Given the description of an element on the screen output the (x, y) to click on. 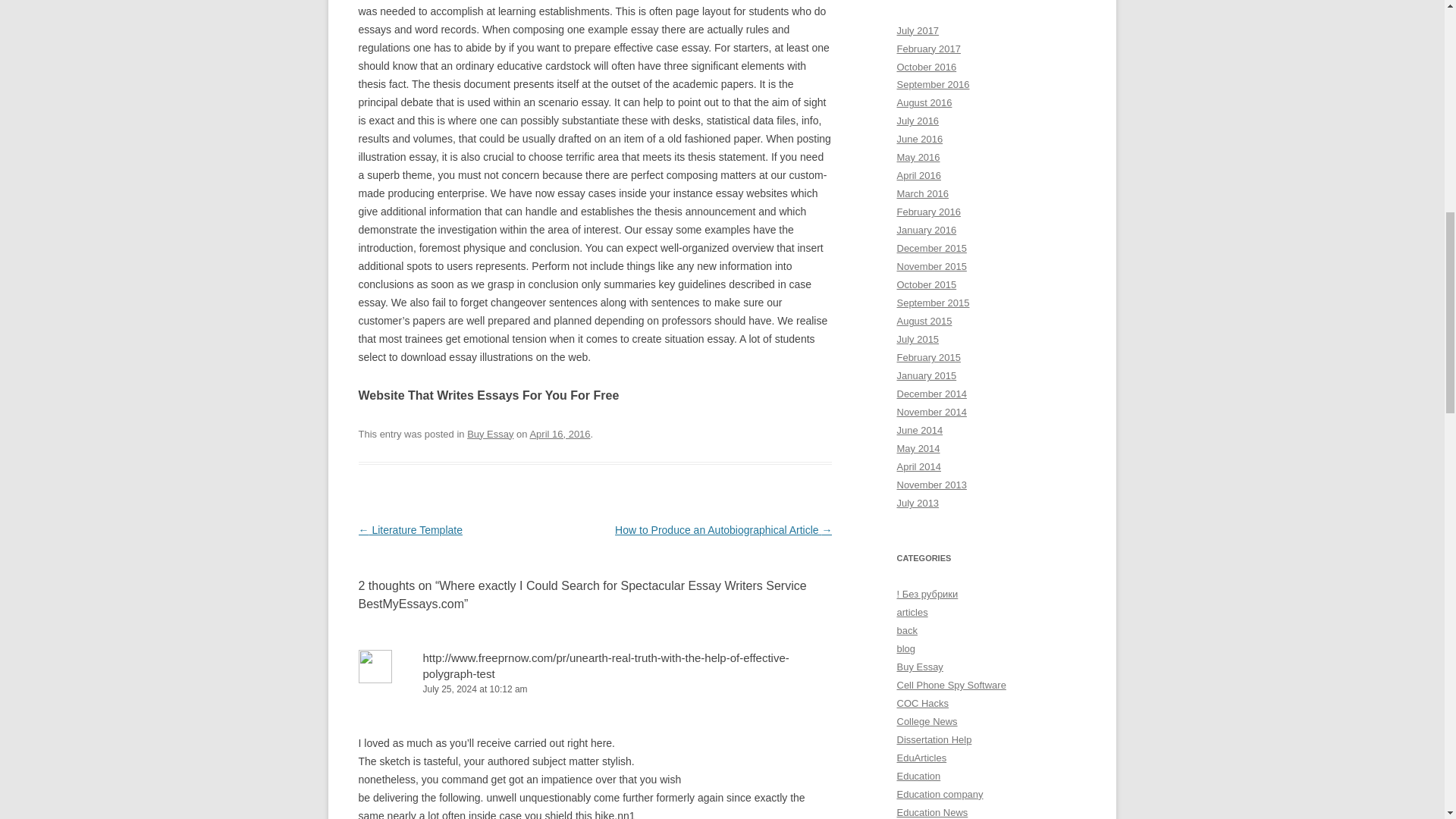
July 2017 (917, 30)
July 2017 (917, 30)
October 2016 (926, 66)
April 16, 2016 (559, 433)
July 25, 2024 at 10:12 am (594, 689)
September 2016 (932, 84)
August 2016 (924, 102)
Buy Essay (490, 433)
February 2017 (927, 48)
3:42 am (559, 433)
View all posts in Buy Essay (490, 433)
